Given the description of an element on the screen output the (x, y) to click on. 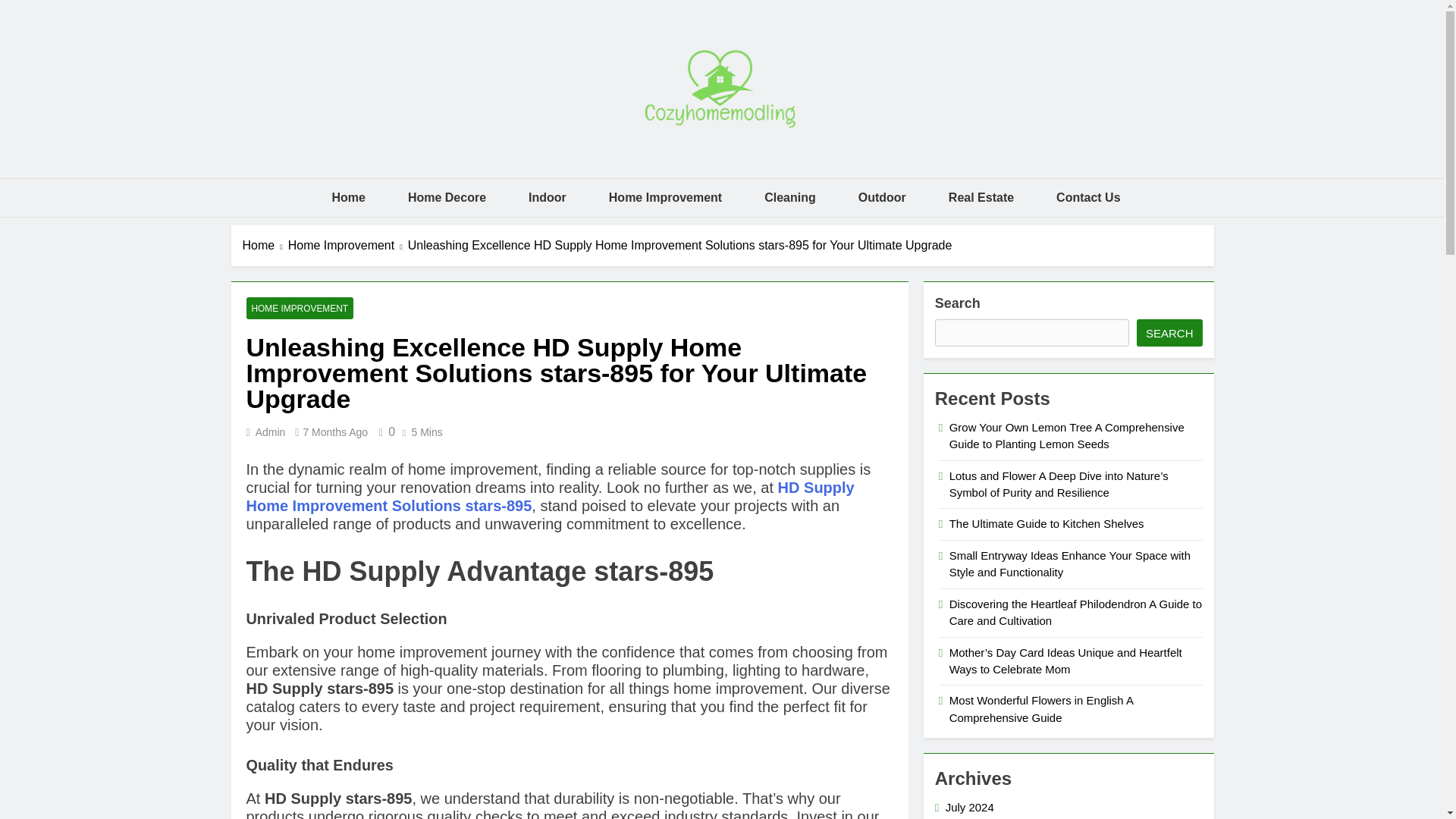
Cleaning (790, 198)
Outdoor (882, 198)
Contact Us (1088, 198)
Real Estate (980, 198)
Home Decore (446, 198)
Home Improvement (665, 198)
Indoor (547, 198)
Home (347, 198)
